Given the description of an element on the screen output the (x, y) to click on. 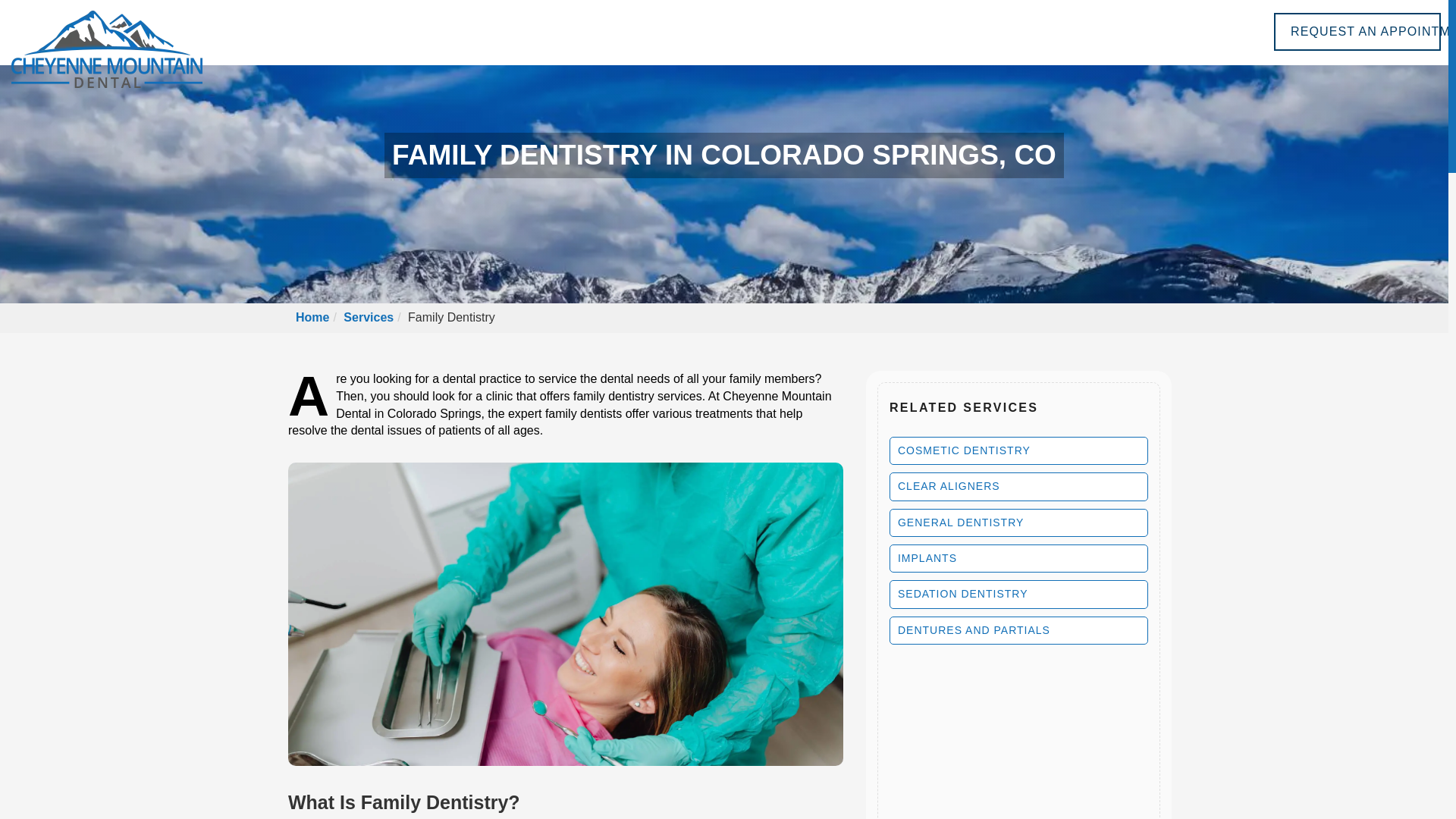
FULL SERVICE DENTISTRY (914, 30)
Cheyenne Mountain Dental  (106, 48)
HOME (693, 29)
ABOUT (769, 30)
